Given the description of an element on the screen output the (x, y) to click on. 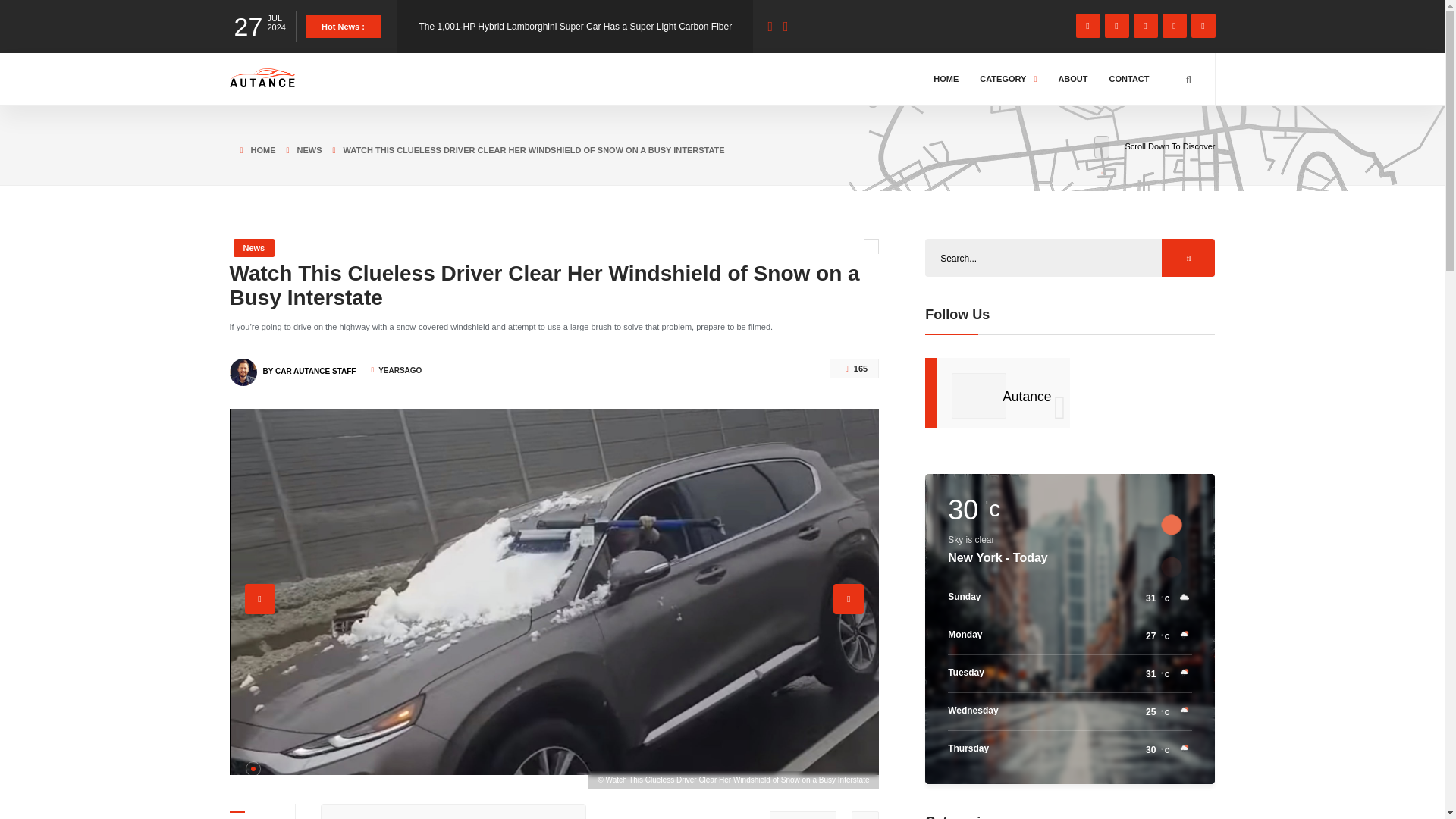
ABOUT (1072, 79)
PRINT (802, 815)
Scattered clouds (1184, 596)
NEWS (298, 147)
BY CAR AUTANCE STAFF (308, 363)
CONTACT (1128, 79)
HOME (251, 147)
Light rain (1184, 672)
HOME (945, 79)
News (253, 248)
CATEGORY (1008, 79)
Scroll Down To Discover (1154, 146)
Light rain (1184, 634)
